Given the description of an element on the screen output the (x, y) to click on. 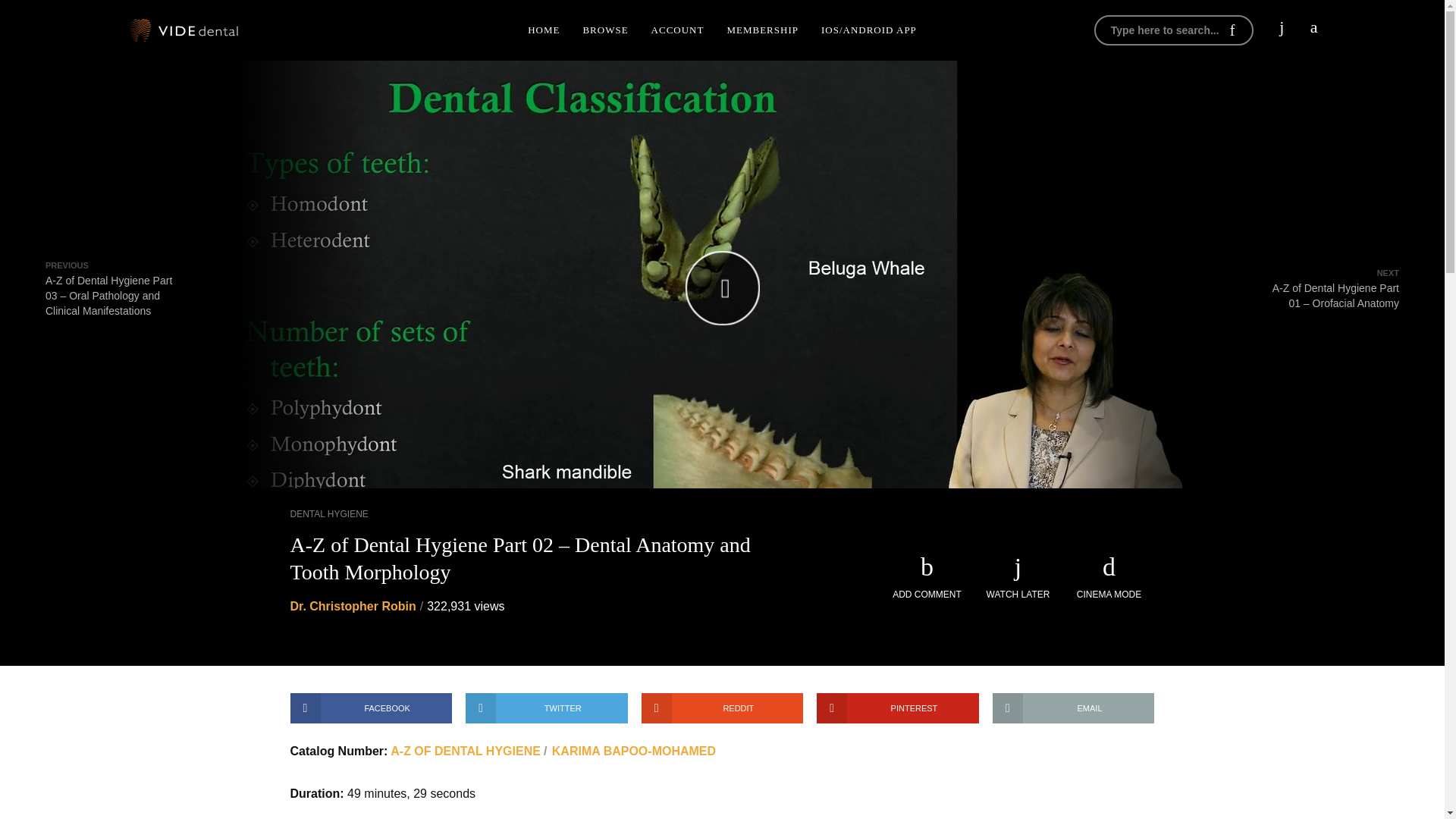
WATCH LATER (1017, 577)
BROWSE (604, 30)
Dr. Christopher Robin (351, 605)
MEMBERSHIP (761, 30)
Log in (1206, 168)
PINTEREST (897, 707)
ADD COMMENT (926, 577)
Log in (1206, 247)
REDDIT (722, 707)
CINEMA MODE (1108, 577)
ACCOUNT (678, 30)
HOME (543, 30)
FACEBOOK (370, 707)
DENTAL HYGIENE (328, 513)
TWITTER (546, 707)
